Given the description of an element on the screen output the (x, y) to click on. 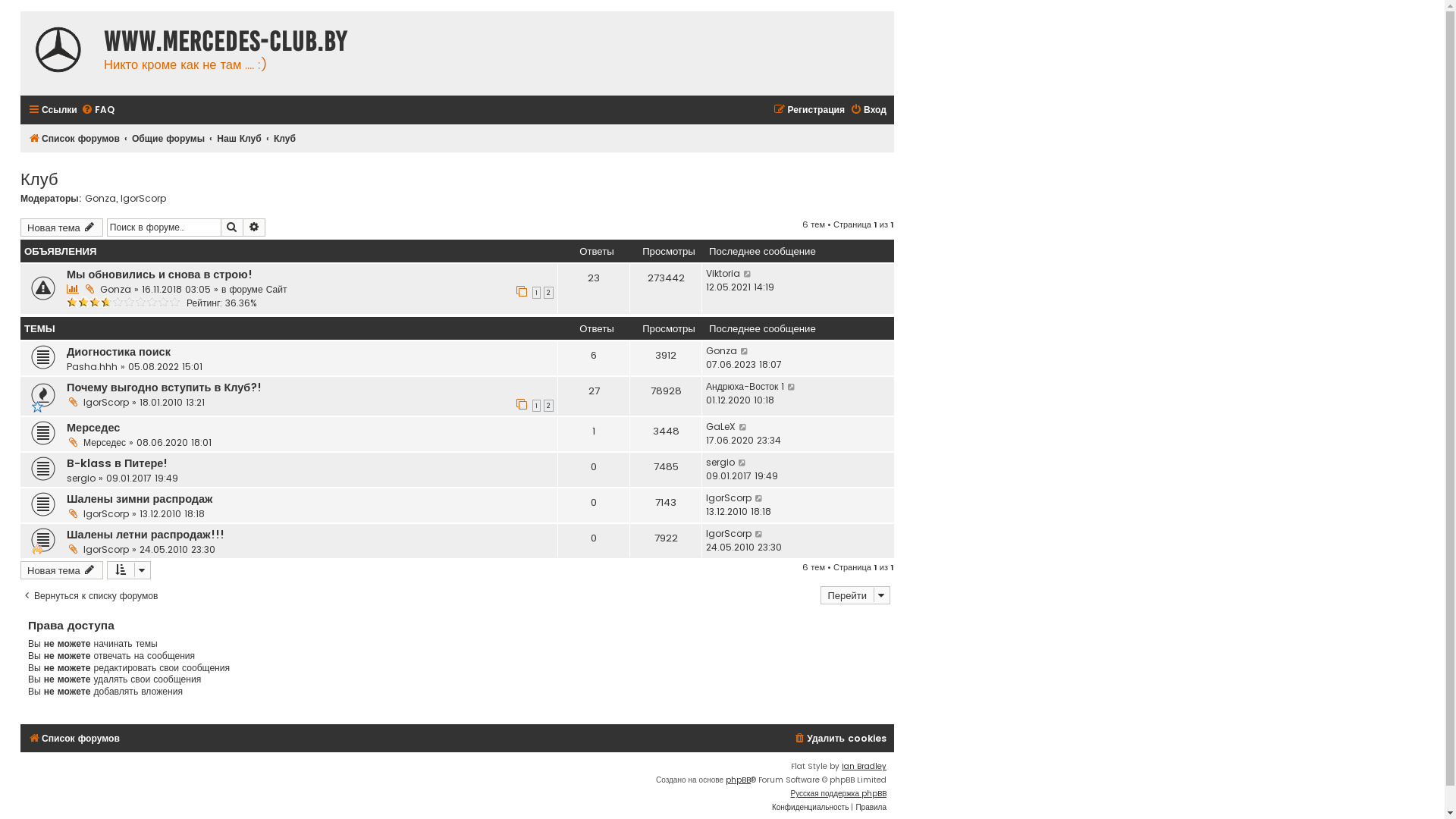
GaLeX Element type: text (720, 426)
sergio Element type: text (80, 477)
Viktoria Element type: text (723, 273)
IgorScorp Element type: text (728, 498)
FAQ Element type: text (97, 110)
Gonza Element type: text (100, 198)
IgorScorp Element type: text (105, 548)
sergio Element type: text (720, 462)
2 Element type: text (548, 405)
Pasha.hhh Element type: text (91, 366)
Gonza Element type: text (721, 350)
IgorScorp Element type: text (105, 513)
2 Element type: text (548, 292)
1 Element type: text (536, 292)
phpBB Element type: text (737, 780)
Gonza Element type: text (115, 288)
IgorScorp Element type: text (728, 533)
Ian Bradley Element type: text (863, 766)
1 Element type: text (536, 405)
IgorScorp Element type: text (105, 401)
IgorScorp Element type: text (143, 198)
